Given the description of an element on the screen output the (x, y) to click on. 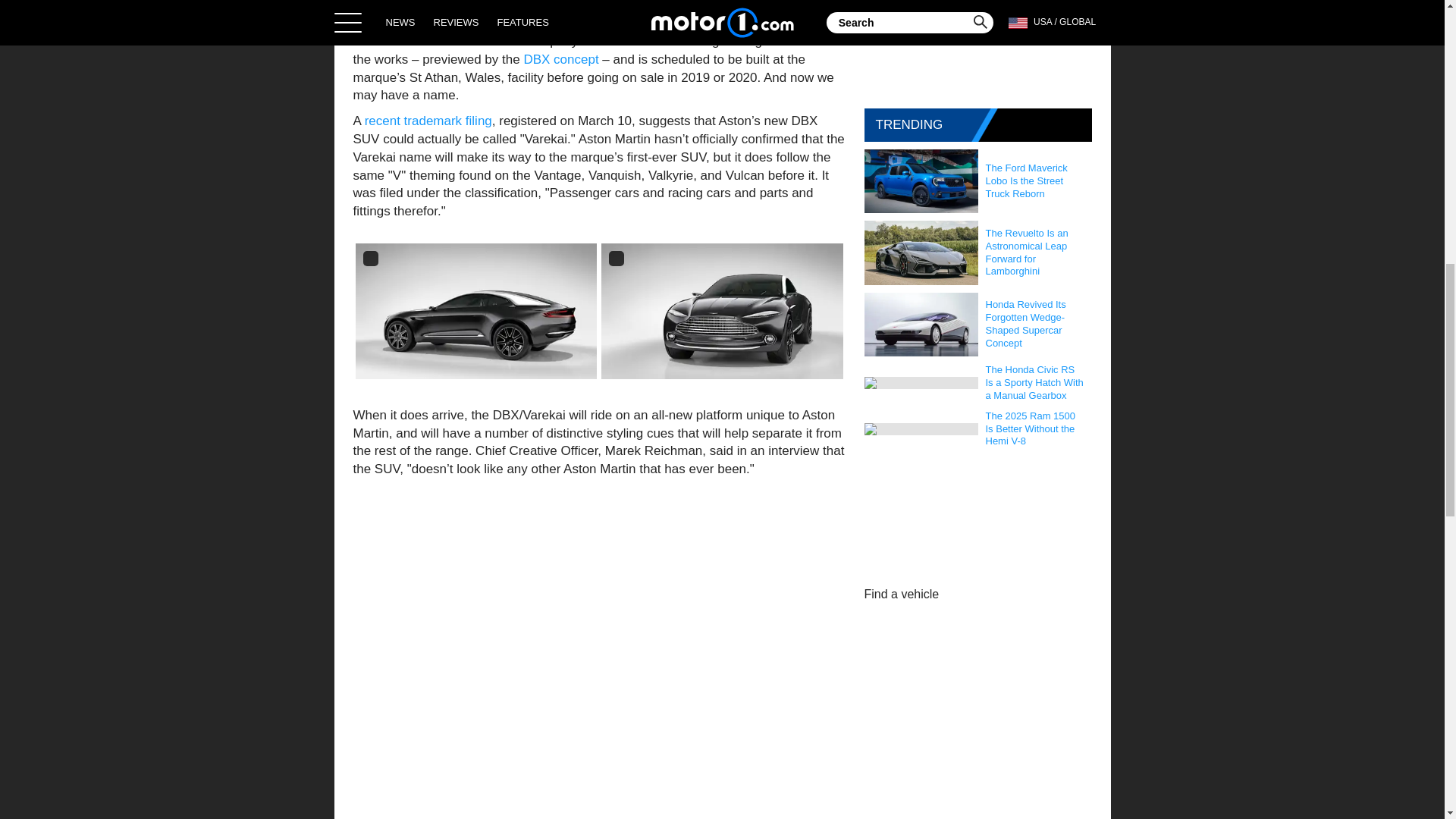
Vulcan (555, 22)
DBX concept (560, 59)
Valkyrie (647, 22)
recent trademark filing (428, 120)
